Given the description of an element on the screen output the (x, y) to click on. 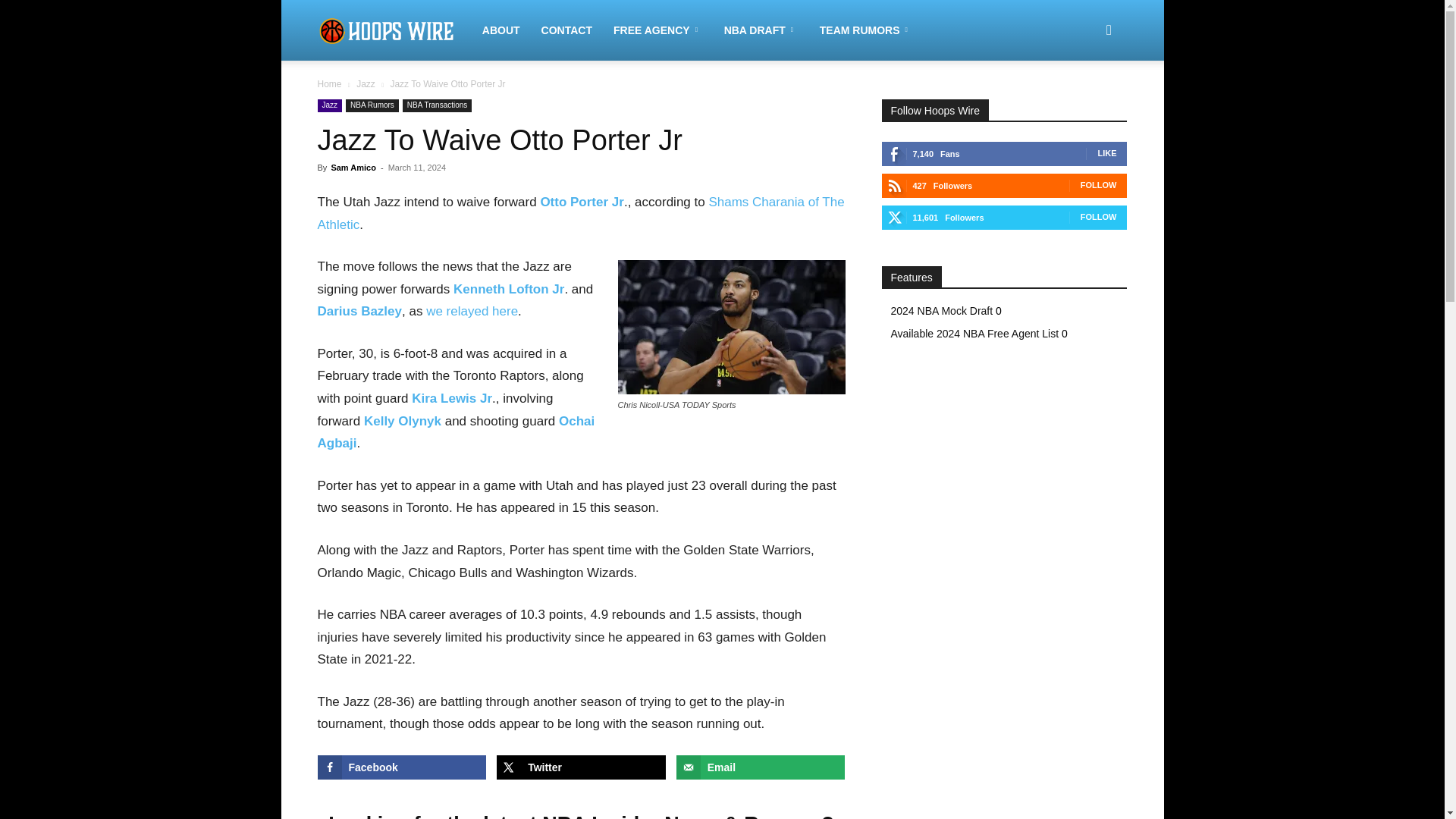
View all posts in Jazz (365, 83)
Send over email (761, 767)
Share on Facebook (401, 767)
Share on X (580, 767)
